Given the description of an element on the screen output the (x, y) to click on. 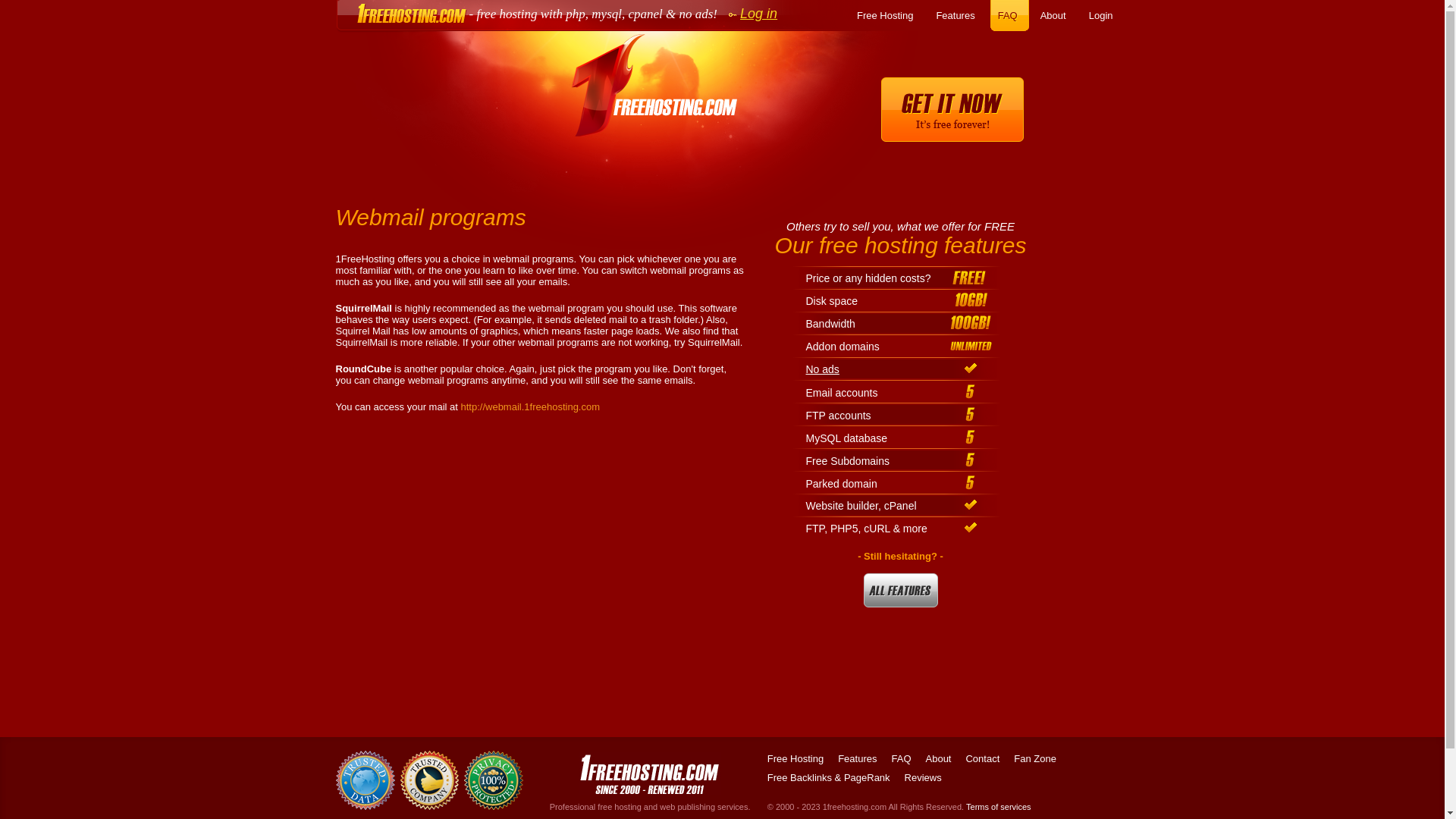
Terms of services Element type: text (998, 806)
Features Element type: text (856, 758)
FAQ Element type: text (1009, 15)
1FREEHOSTING.COM SINCE 2000 - RENEWED 2011 Element type: hover (649, 772)
FAQ Element type: text (900, 758)
About Element type: text (1054, 15)
Fan Zone Element type: text (1034, 758)
Contact Element type: text (982, 758)
Free Backlinks & PageRank Element type: text (828, 777)
Free Hosting Element type: text (795, 758)
About Element type: text (937, 758)
Features Element type: text (956, 15)
  Element type: text (952, 109)
See all features Element type: text (899, 590)
Log in Element type: text (747, 10)
http://webmail.1freehosting.com Element type: text (530, 406)
Login Element type: text (1102, 15)
Reviews Element type: text (922, 777)
  Element type: text (649, 772)
  Element type: text (428, 779)
Free Hosting Element type: text (886, 15)
Get Free Hosting now. This is not a joke - its all free! Element type: hover (952, 109)
